Given the description of an element on the screen output the (x, y) to click on. 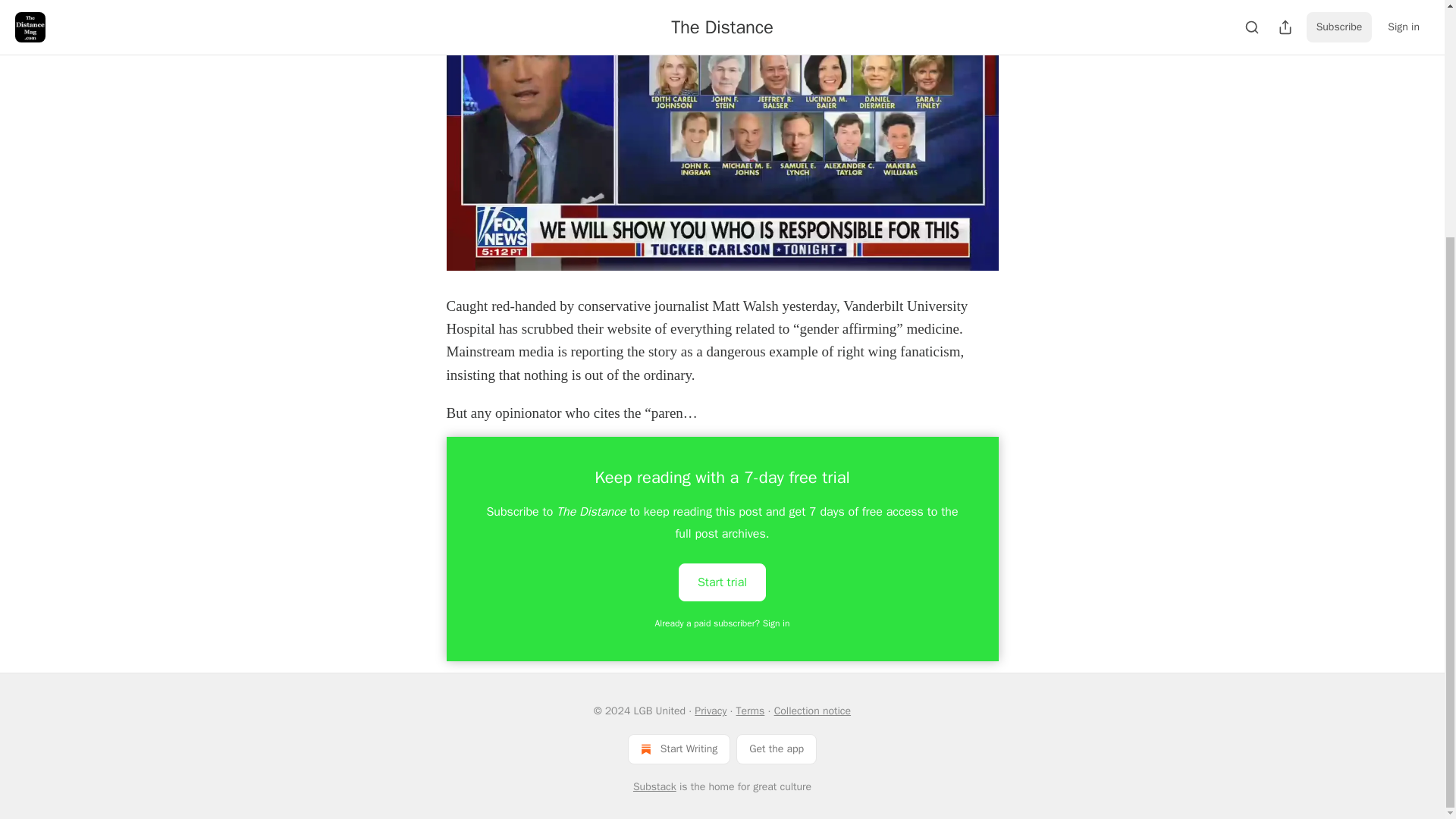
Already a paid subscriber? Sign in (722, 623)
Substack (655, 786)
Privacy (710, 710)
Start trial (721, 581)
Start trial (721, 582)
Start Writing (678, 748)
Terms (750, 710)
Get the app (776, 748)
Collection notice (812, 710)
